Given the description of an element on the screen output the (x, y) to click on. 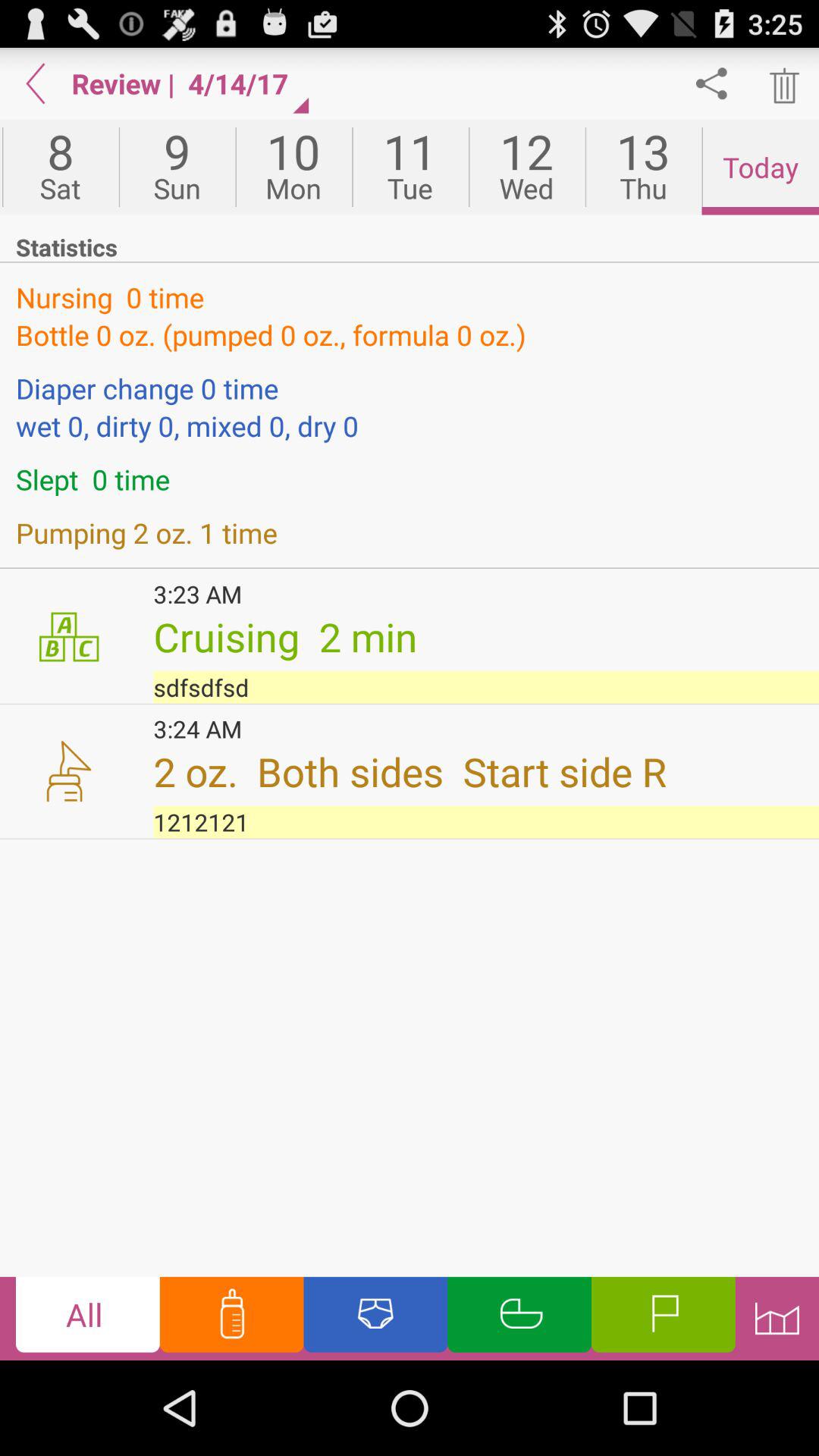
swipe to all button (87, 1318)
